Given the description of an element on the screen output the (x, y) to click on. 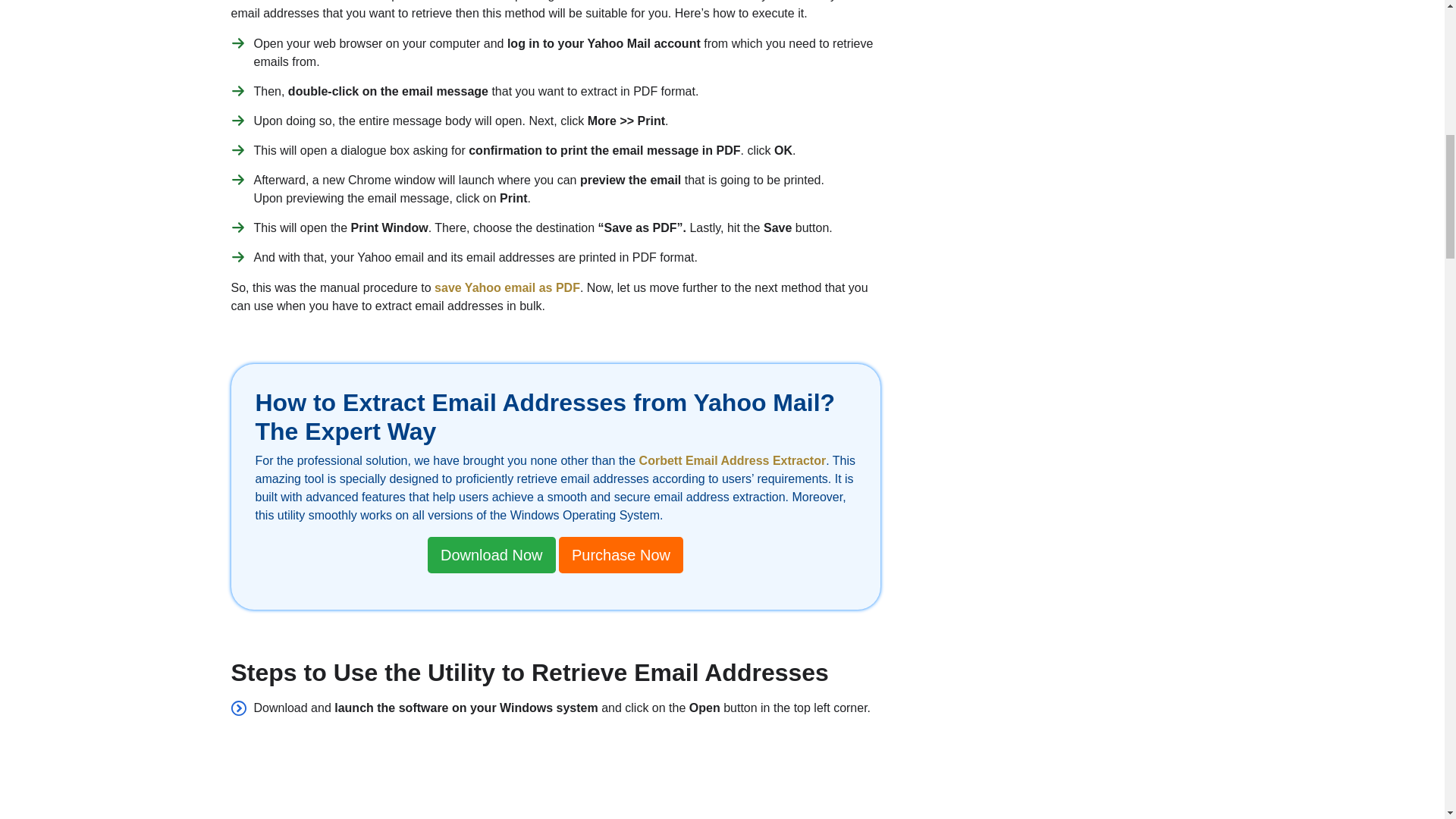
Corbett Email Address Extractor (733, 460)
Download Now (492, 555)
Purchase Now (620, 555)
save Yahoo email as PDF (506, 287)
